Given the description of an element on the screen output the (x, y) to click on. 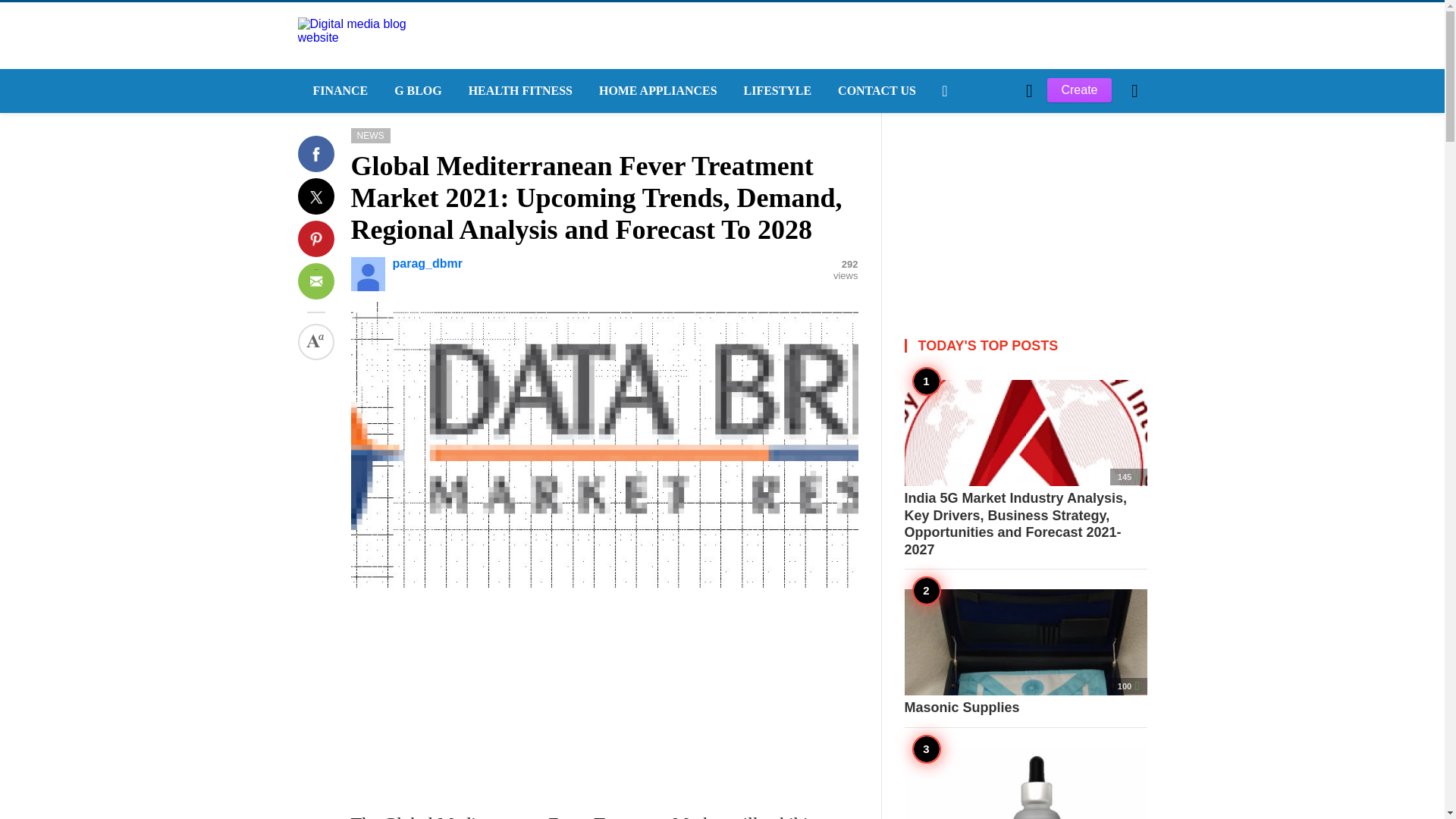
FINANCE (337, 90)
Masonic Supplies (1025, 652)
CONTACT US (874, 90)
HEALTH FITNESS (517, 90)
G BLOG (415, 90)
HOME APPLIANCES (656, 90)
1-Andro Liquid375 (1025, 783)
LIFESTYLE (776, 90)
sign up (964, 347)
